Given the description of an element on the screen output the (x, y) to click on. 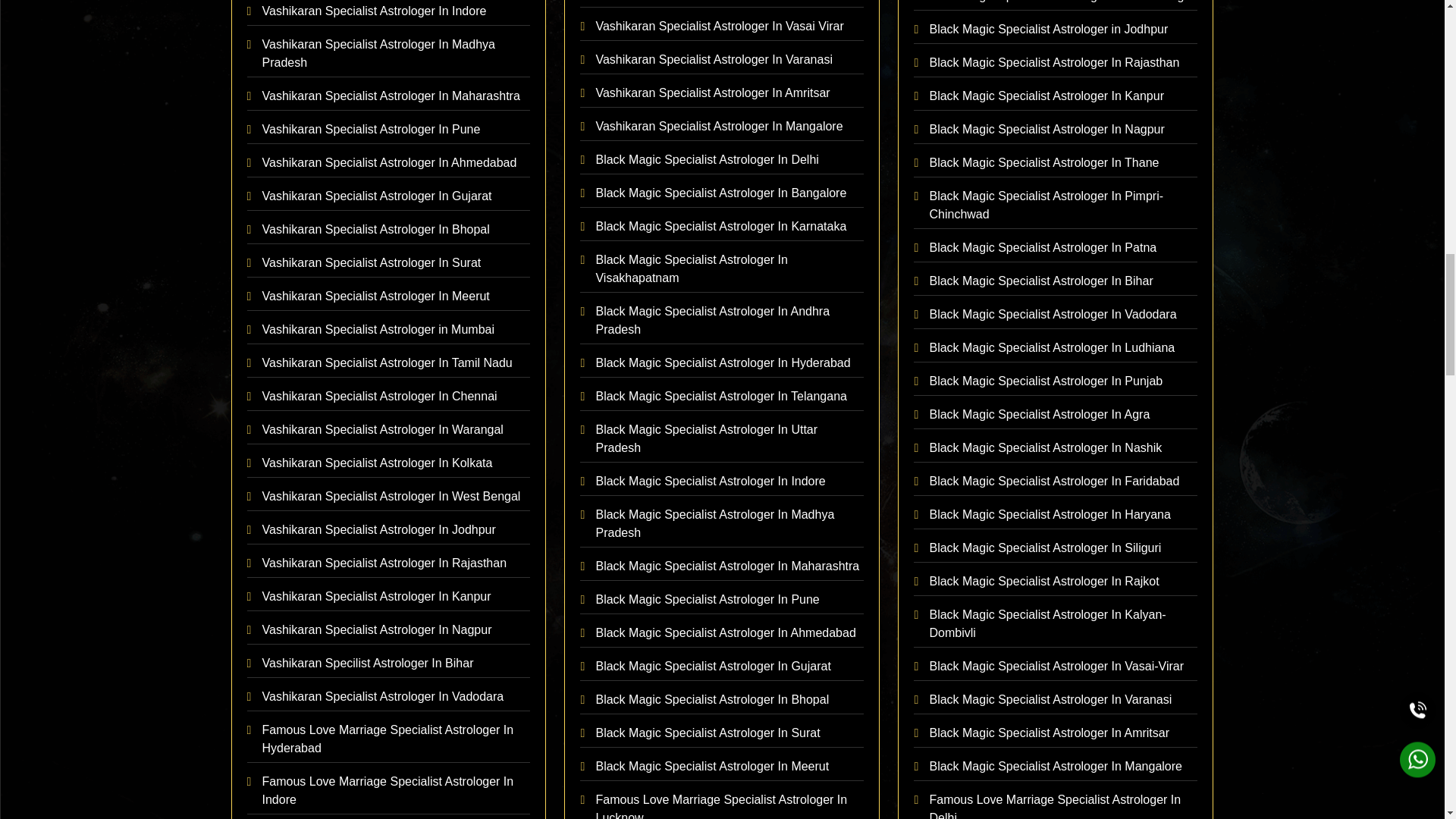
Vashikaran Specialist Astrologer in Mumbai (389, 329)
Vashikaran Specialist Astrologer In Indore (389, 12)
Vashikaran Specialist Astrologer In Gujarat (389, 196)
Vashikaran Specialist Astrologer In Bhopal (389, 230)
Vashikaran Specialist Astrologer In Maharashtra (389, 96)
Vashikaran Specialist Astrologer In Meerut (389, 296)
Vashikaran Specialist Astrologer In Ahmedabad (389, 163)
Vashikaran Specialist Astrologer In Madhya Pradesh (389, 53)
Vashikaran Specialist Astrologer In Pune (389, 130)
Vashikaran Specialist Astrologer In Surat (389, 263)
